Given the description of an element on the screen output the (x, y) to click on. 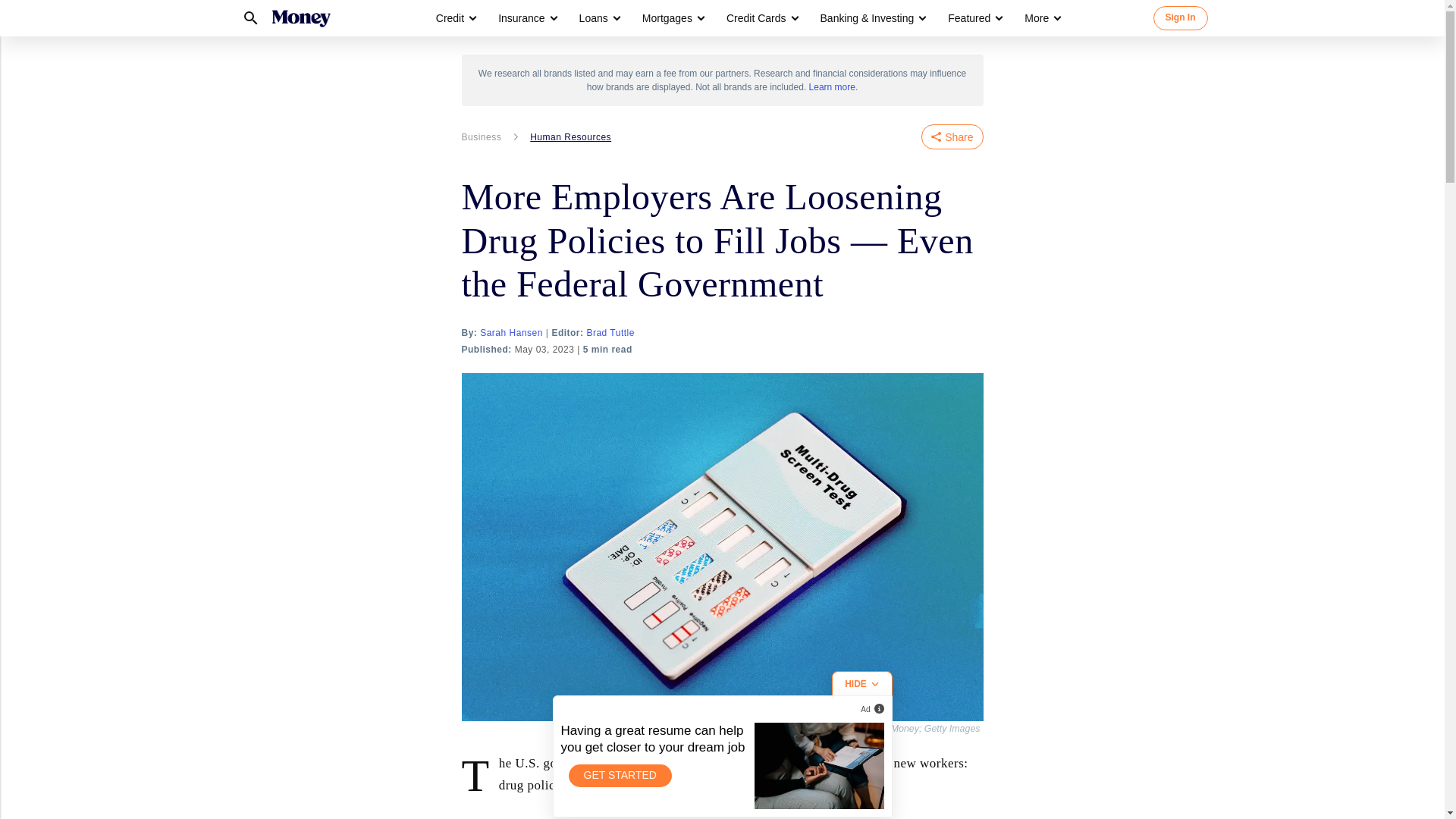
Insurance (520, 18)
Search (249, 18)
Loans (593, 18)
Credit Cards (756, 18)
Credit (449, 18)
Mortgages (672, 18)
Mortgages (667, 18)
Credit (455, 18)
Credit Cards (761, 18)
Insurance (526, 18)
Loans (598, 18)
